Given the description of an element on the screen output the (x, y) to click on. 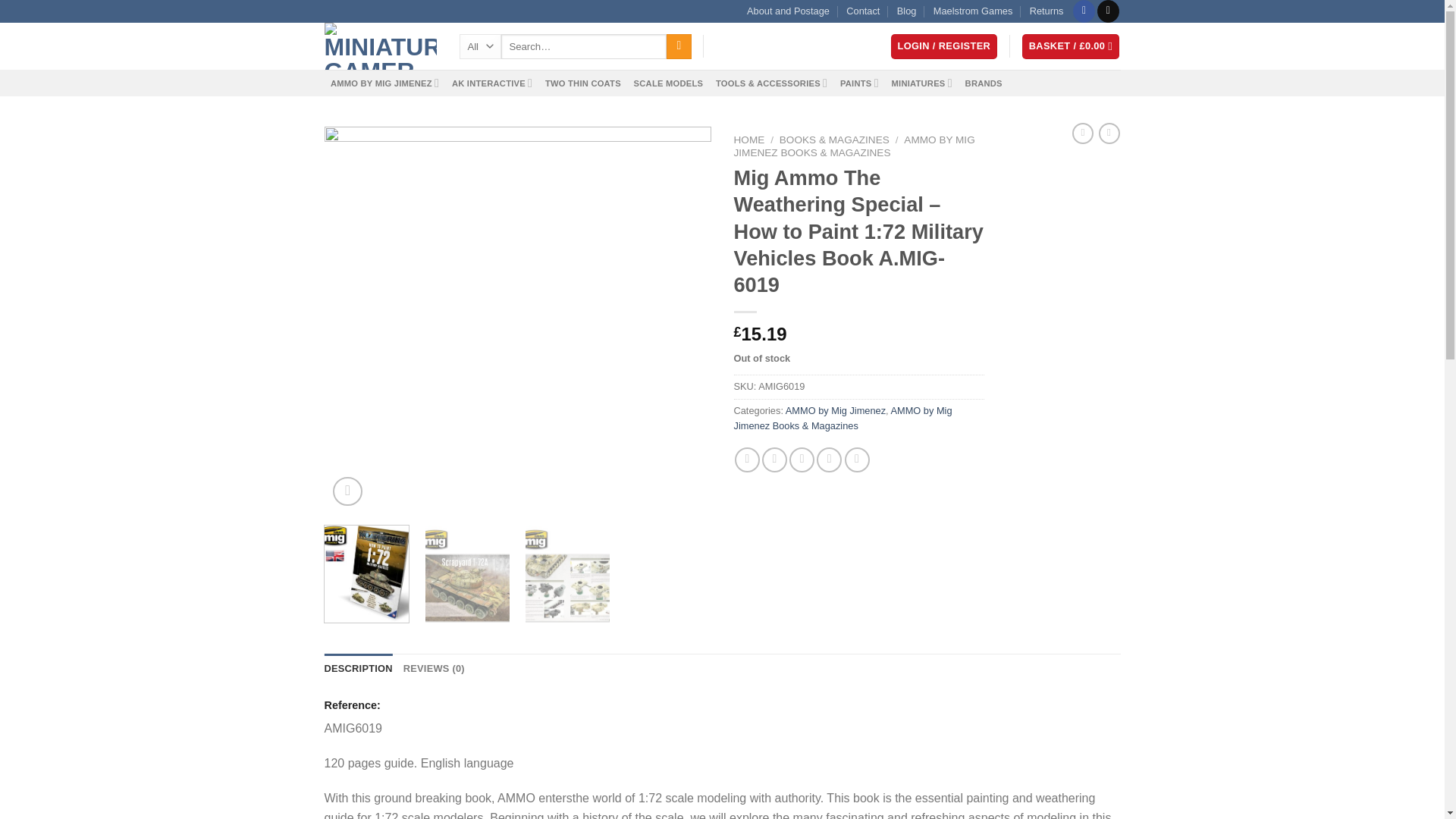
Share on Facebook (747, 459)
Send us an email (1108, 11)
Maelstrom Games (973, 11)
Miniature Gamer - Fantasy, Sci-fi and all manner of minis (380, 45)
AMMO BY MIG JIMENEZ (384, 83)
Returns (1046, 11)
Share on Twitter (774, 459)
Pin on Pinterest (828, 459)
Basket (1070, 46)
TWO THIN COATS (582, 83)
